Given the description of an element on the screen output the (x, y) to click on. 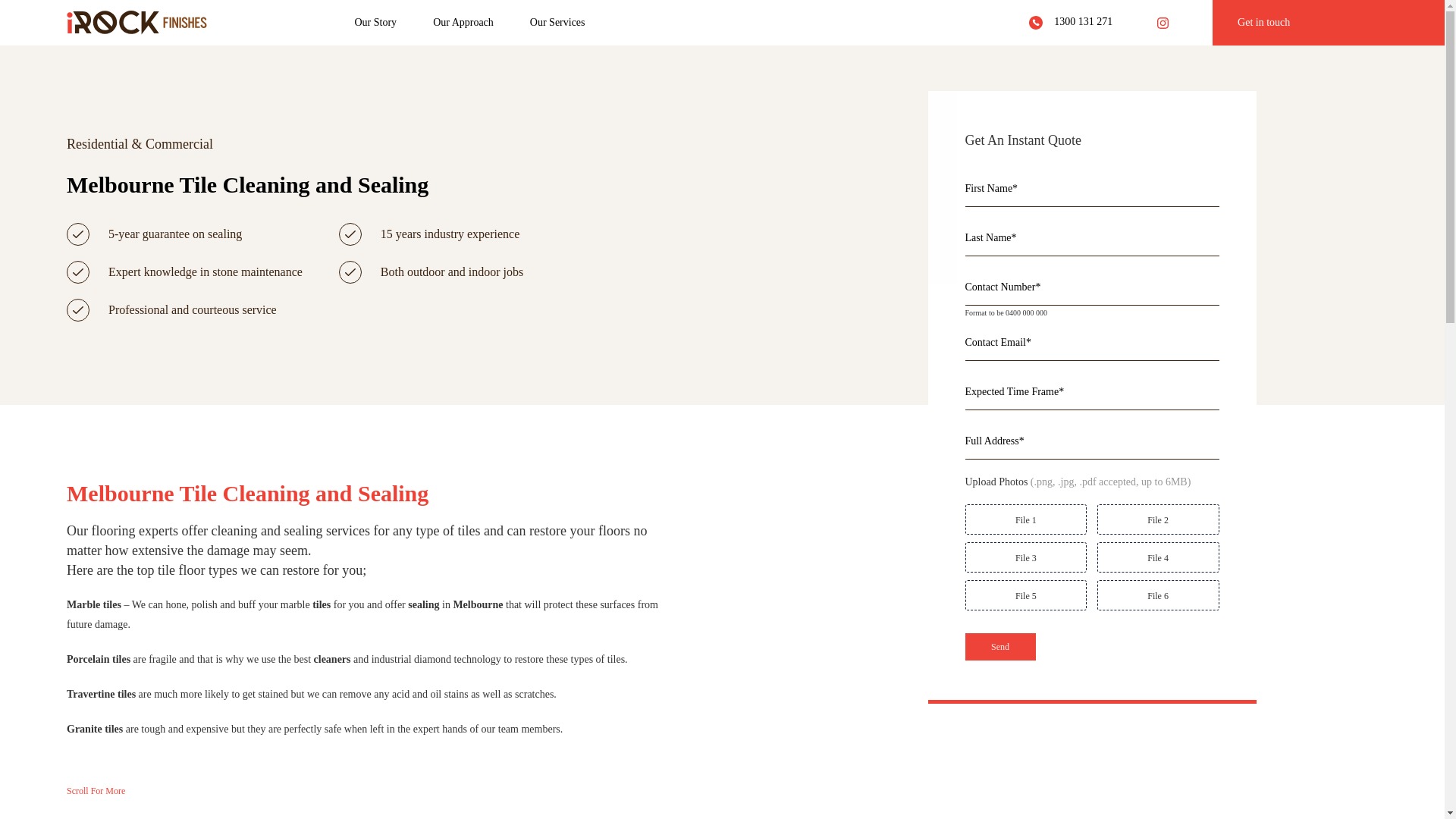
1300 131 271 Element type: text (1070, 22)
Our Story Element type: text (375, 22)
Our Approach Element type: text (462, 22)
Send Element type: text (999, 646)
Get in touch Element type: text (1328, 22)
